Given the description of an element on the screen output the (x, y) to click on. 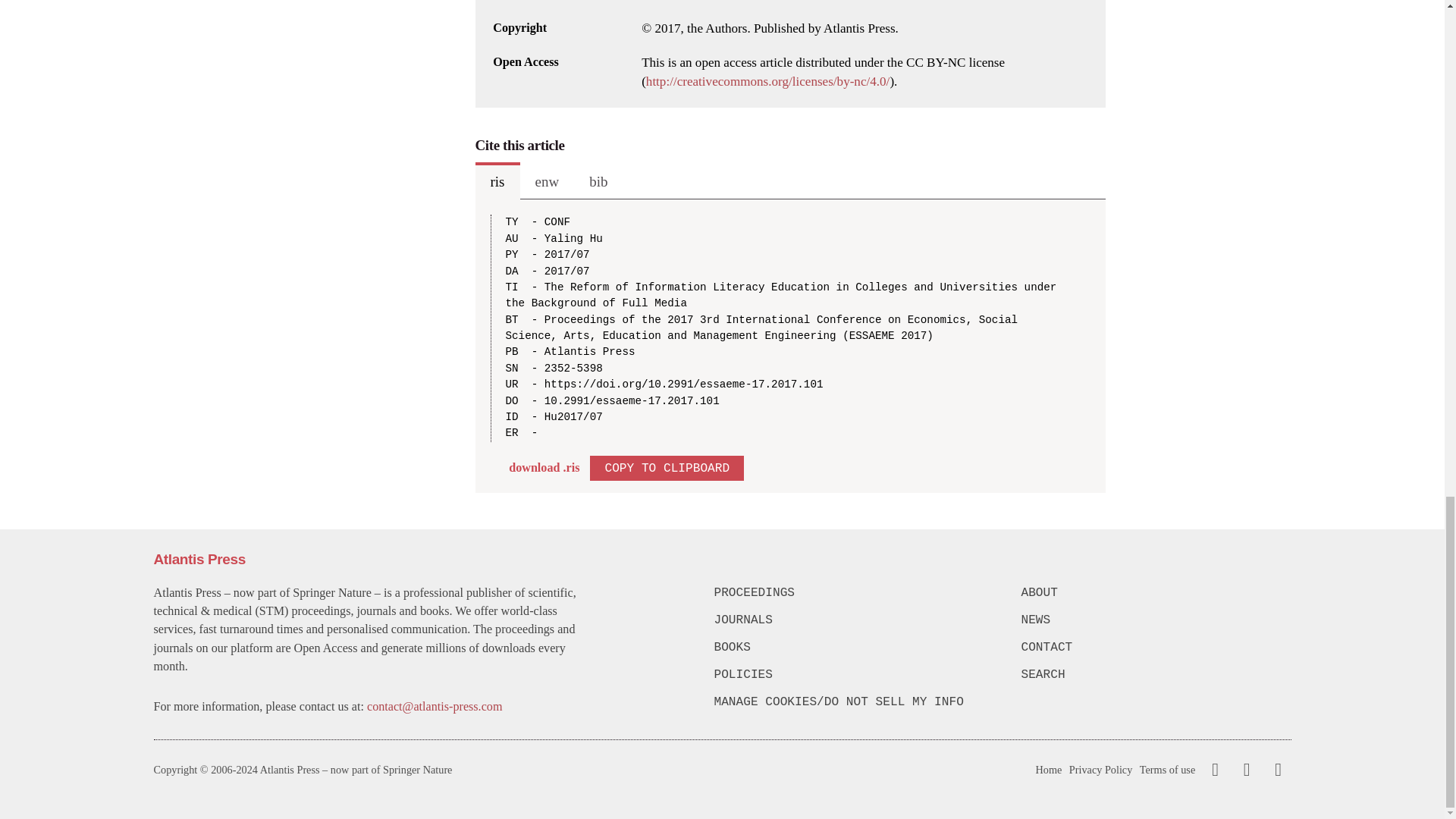
download .ris (543, 467)
POLICIES (849, 674)
Twitter (1243, 769)
bib (598, 180)
PROCEEDINGS (849, 592)
COPY TO CLIPBOARD (666, 467)
Atlantis Press (198, 559)
JOURNALS (849, 620)
NEWS (1155, 620)
